Given the description of an element on the screen output the (x, y) to click on. 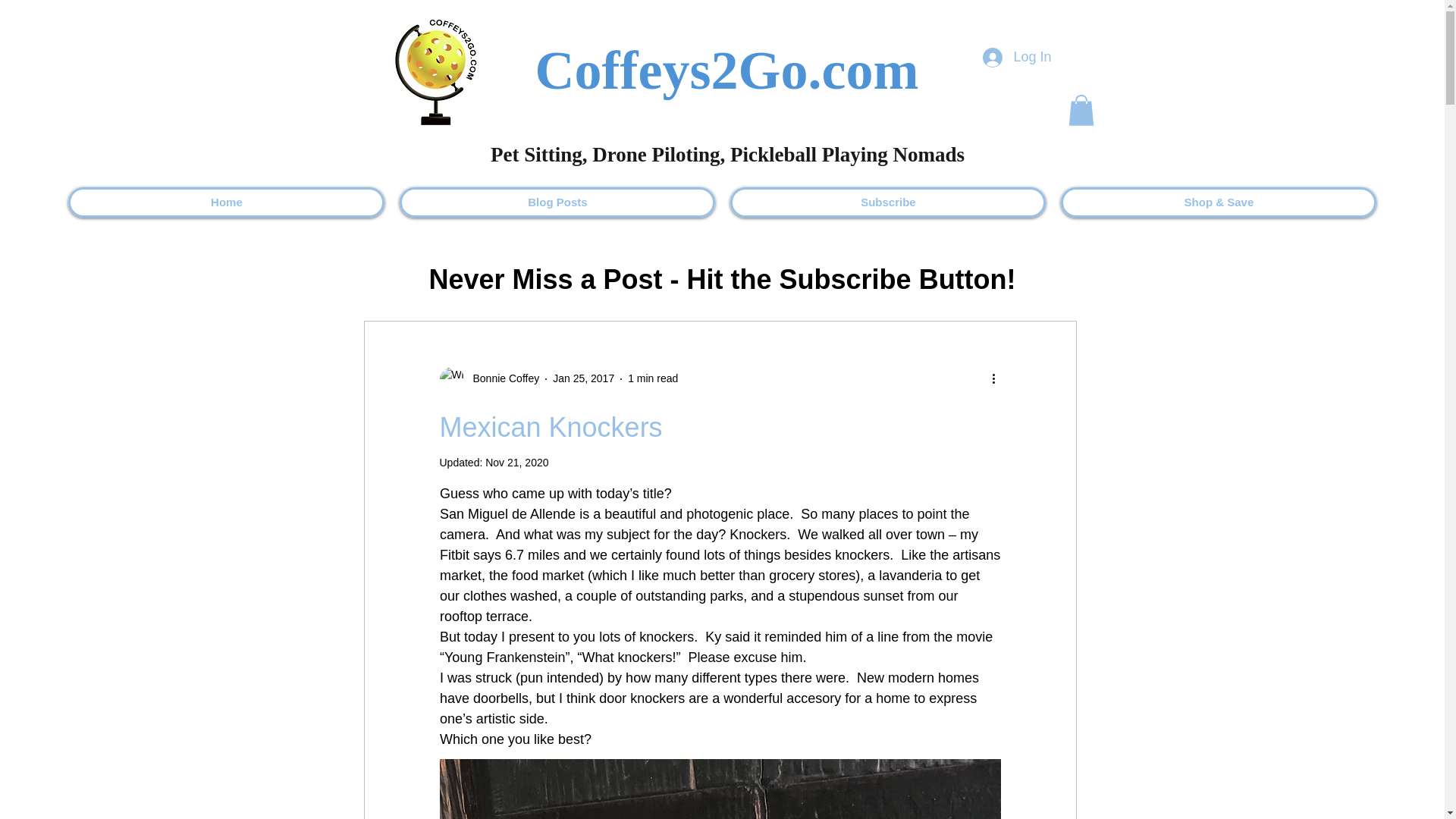
Log In (1016, 57)
Bonnie Coffey (489, 378)
1 min read (652, 378)
Jan 25, 2017 (583, 378)
Bonnie Coffey (502, 378)
Home (226, 202)
Subscribe (887, 202)
Nov 21, 2020 (516, 462)
Blog Posts (556, 202)
